Given the description of an element on the screen output the (x, y) to click on. 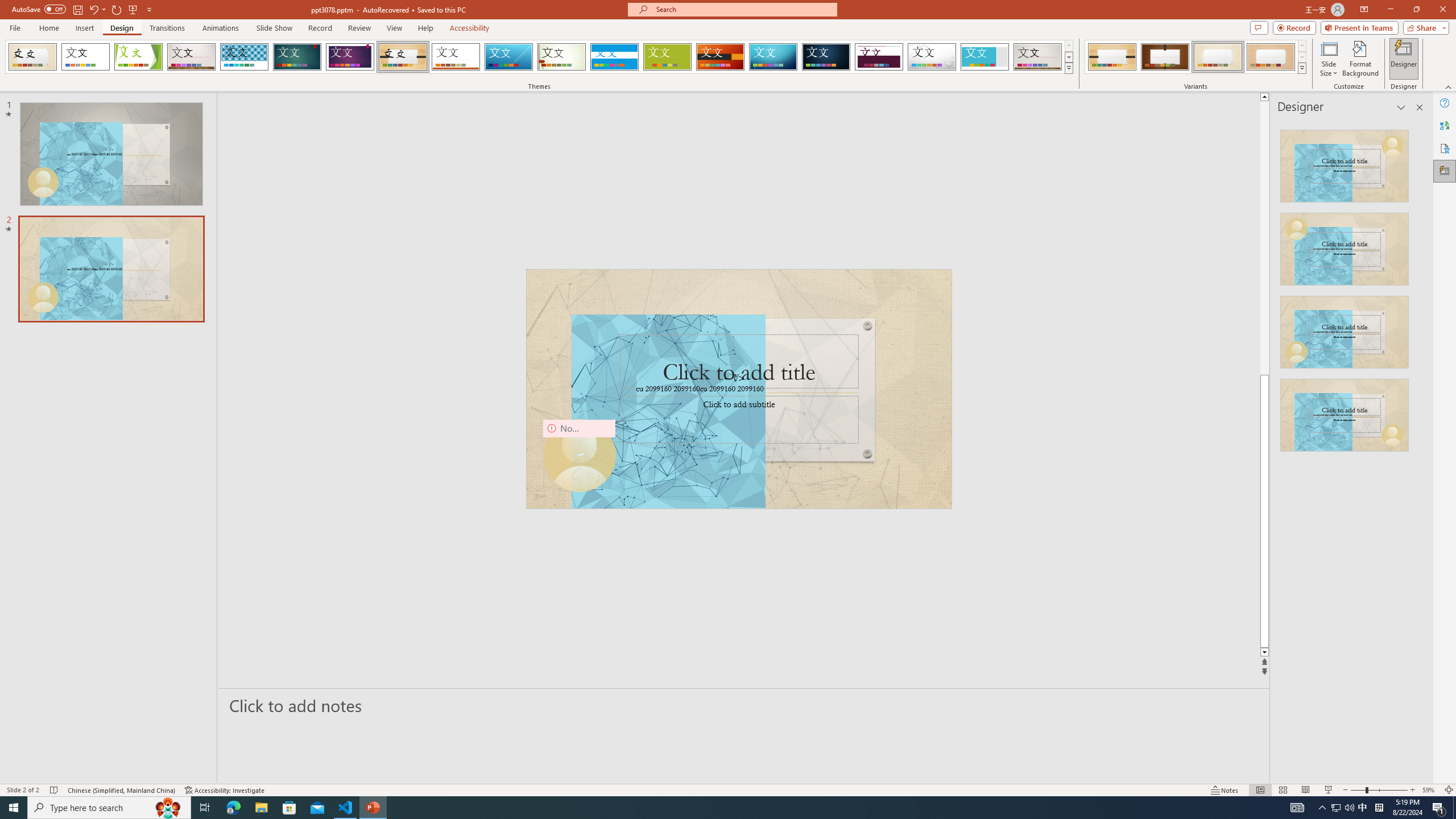
Ion (296, 56)
An abstract genetic concept (739, 388)
AutomationID: ThemeVariantsGallery (1195, 56)
Wisp (561, 56)
Facet (138, 56)
Recommended Design: Design Idea (1344, 162)
Organic Variant 2 (1164, 56)
